Given the description of an element on the screen output the (x, y) to click on. 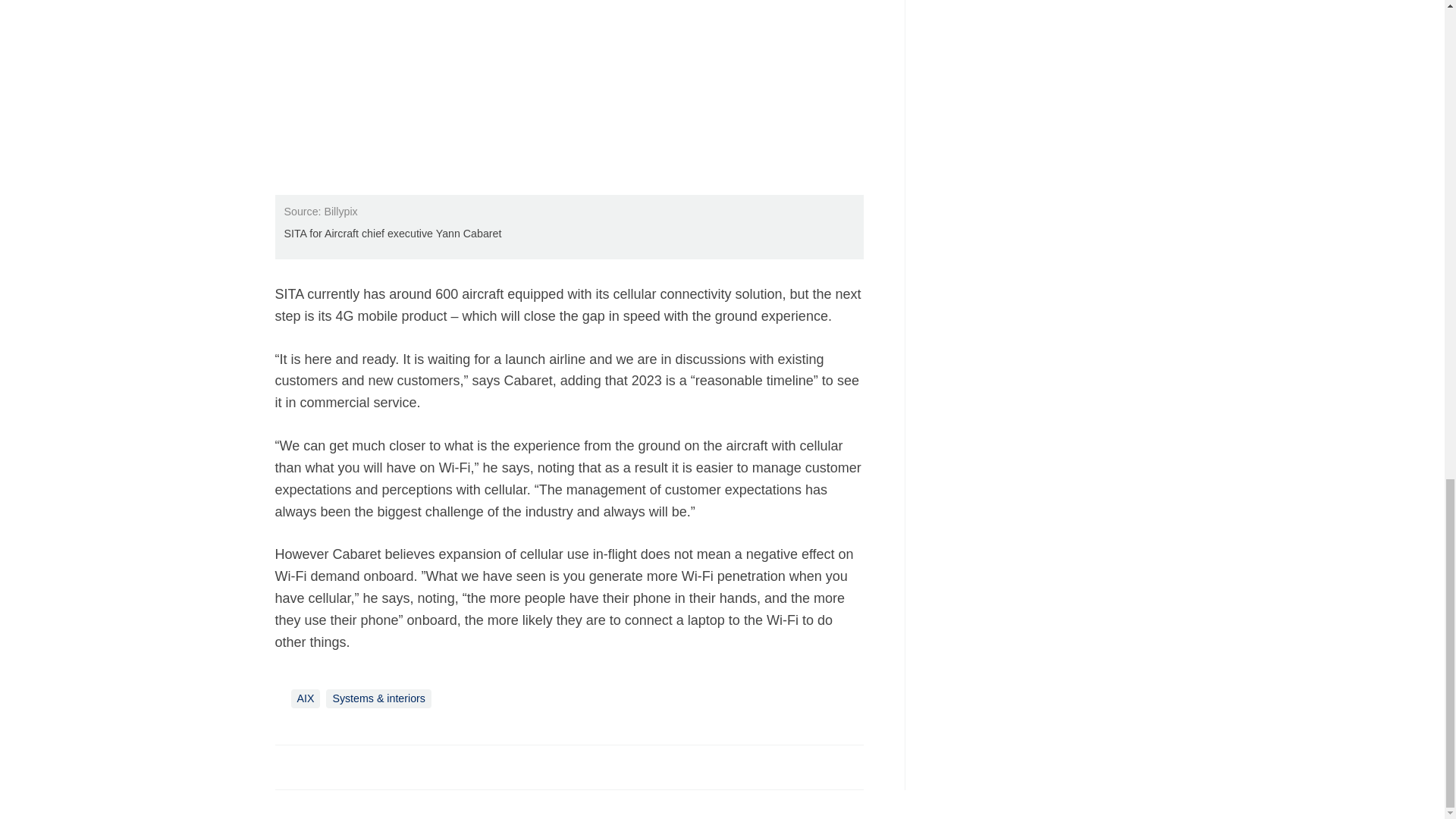
Email this article (386, 766)
Share this on Facebook (288, 766)
Share this on Twitter (320, 766)
Share this on Linked in (352, 766)
